Given the description of an element on the screen output the (x, y) to click on. 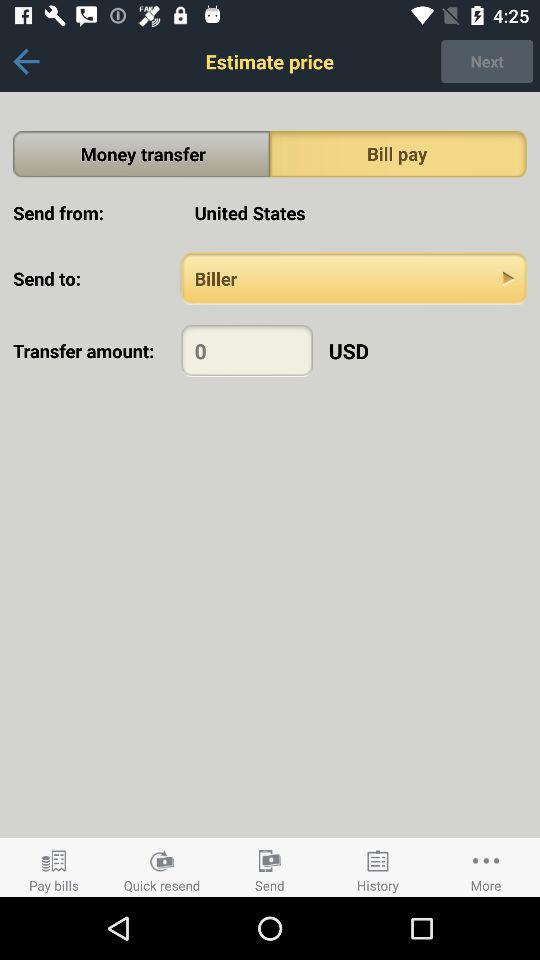
open icon to the right of the estimate price app (487, 61)
